Given the description of an element on the screen output the (x, y) to click on. 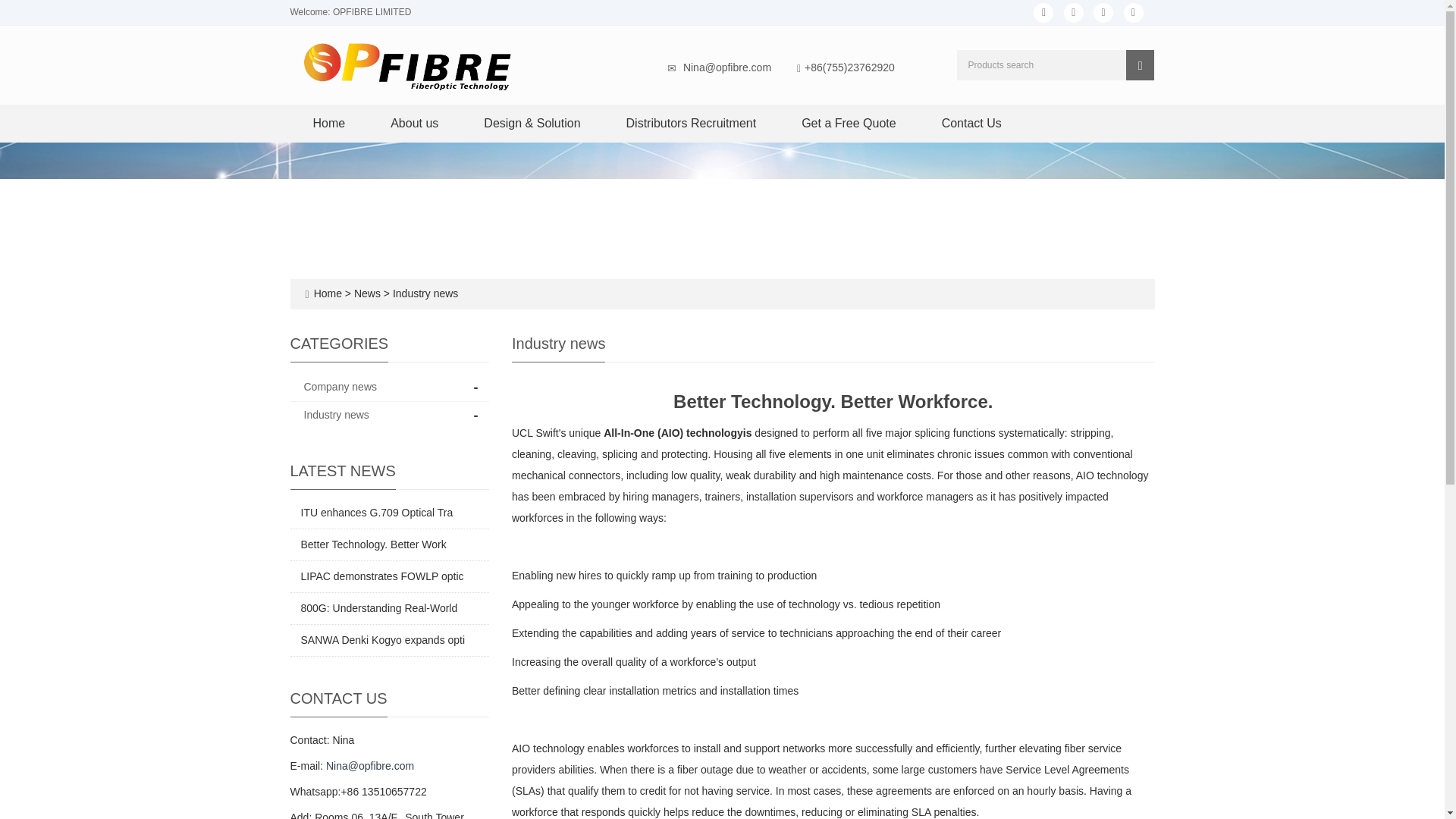
Products search (1139, 64)
Better Technology. Better Workforce. (372, 544)
Company news (339, 386)
800G: Understanding Real-World Optical Performance (378, 607)
News (368, 293)
800G: Understanding Real-World (378, 607)
Home (328, 123)
Better Technology. Better Work (372, 544)
About us (414, 123)
